Given the description of an element on the screen output the (x, y) to click on. 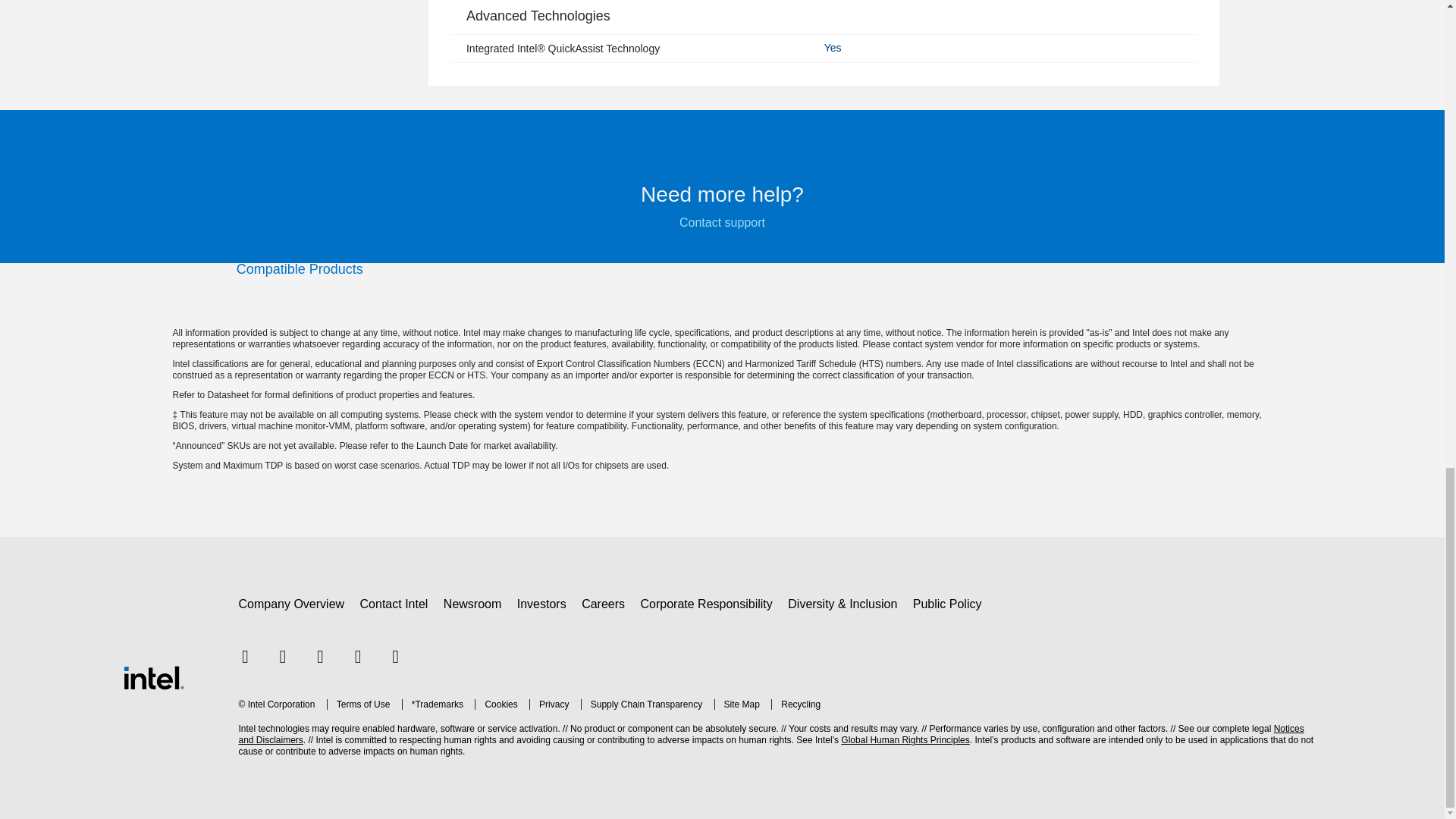
Intel Footer Logo (152, 677)
Intel Footer Logo (152, 676)
